Given the description of an element on the screen output the (x, y) to click on. 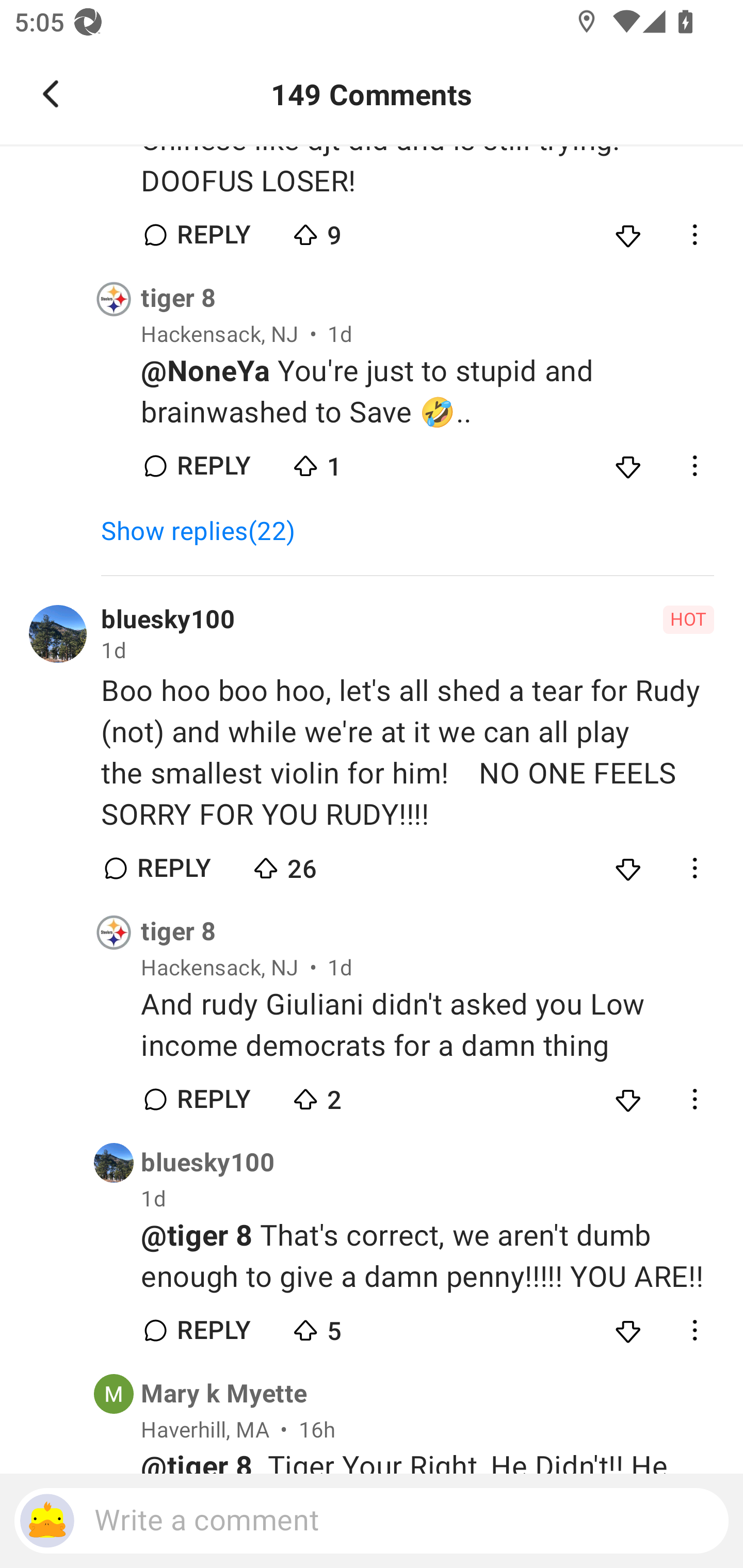
Navigate up (50, 93)
9 (360, 230)
REPLY (213, 234)
tiger 8 (178, 298)
1 (360, 461)
REPLY (213, 466)
Show replies(22) (207, 531)
bluesky100 (167, 620)
26 (320, 863)
REPLY (173, 867)
tiger 8 (178, 932)
2 (360, 1095)
REPLY (213, 1099)
bluesky100 (207, 1162)
5 (360, 1325)
REPLY (213, 1330)
Mary k Myette (224, 1393)
Write a comment (371, 1520)
